Given the description of an element on the screen output the (x, y) to click on. 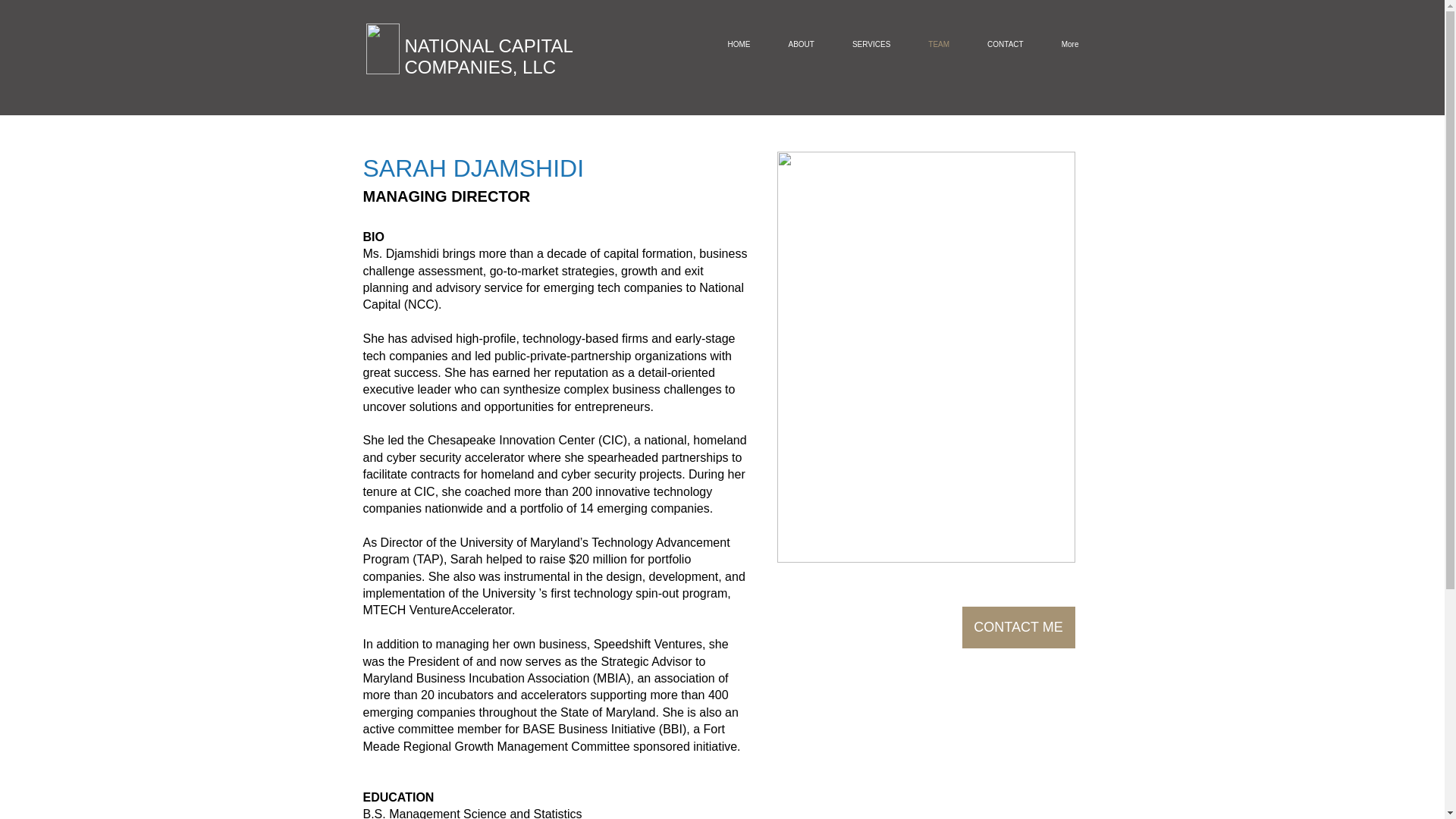
CONTACT ME (1017, 627)
ABOUT (800, 48)
HOME (737, 48)
SERVICES (870, 48)
CONTACT (1005, 48)
TEAM (938, 48)
